Given the description of an element on the screen output the (x, y) to click on. 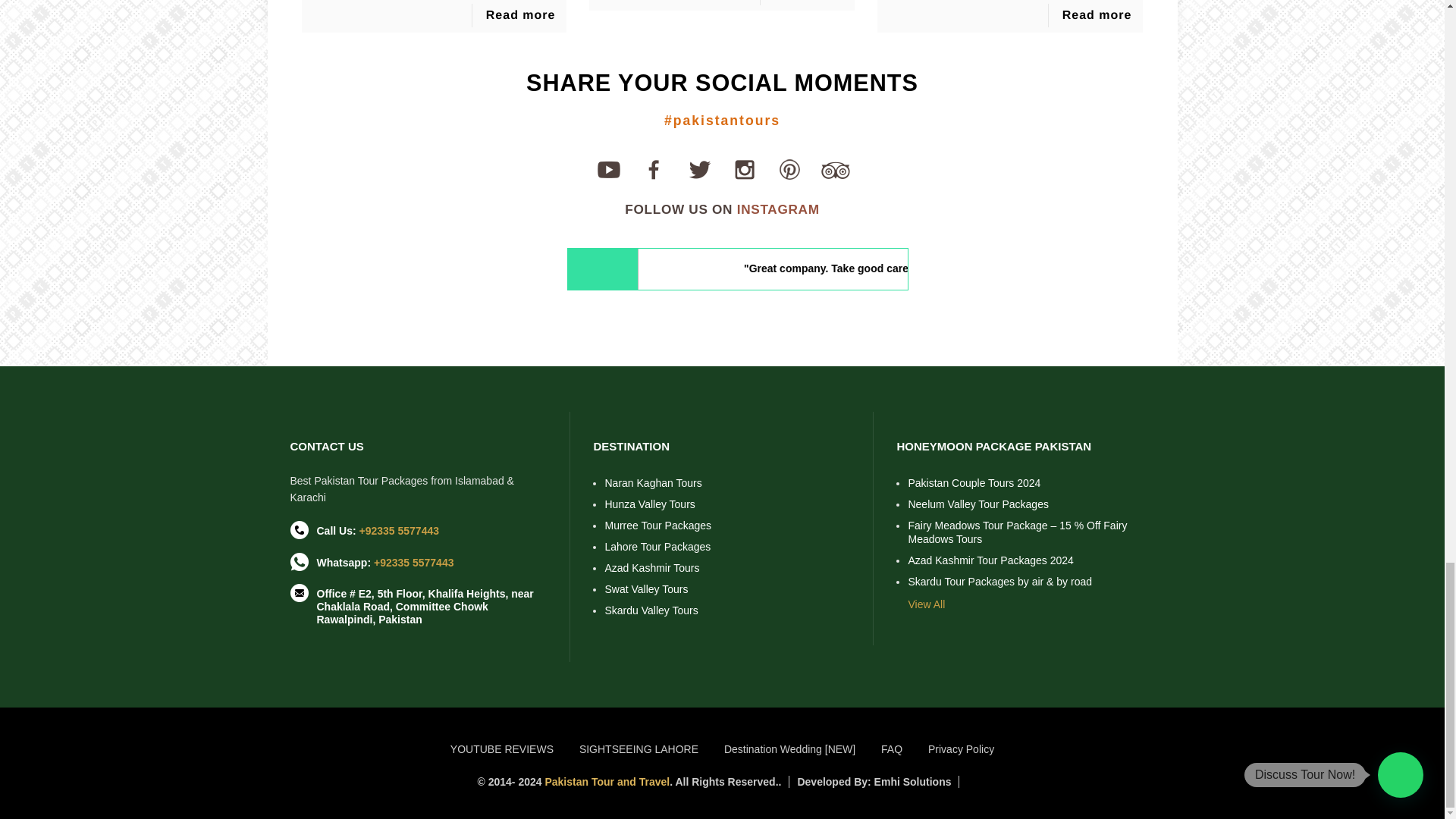
Read more (521, 15)
